Given the description of an element on the screen output the (x, y) to click on. 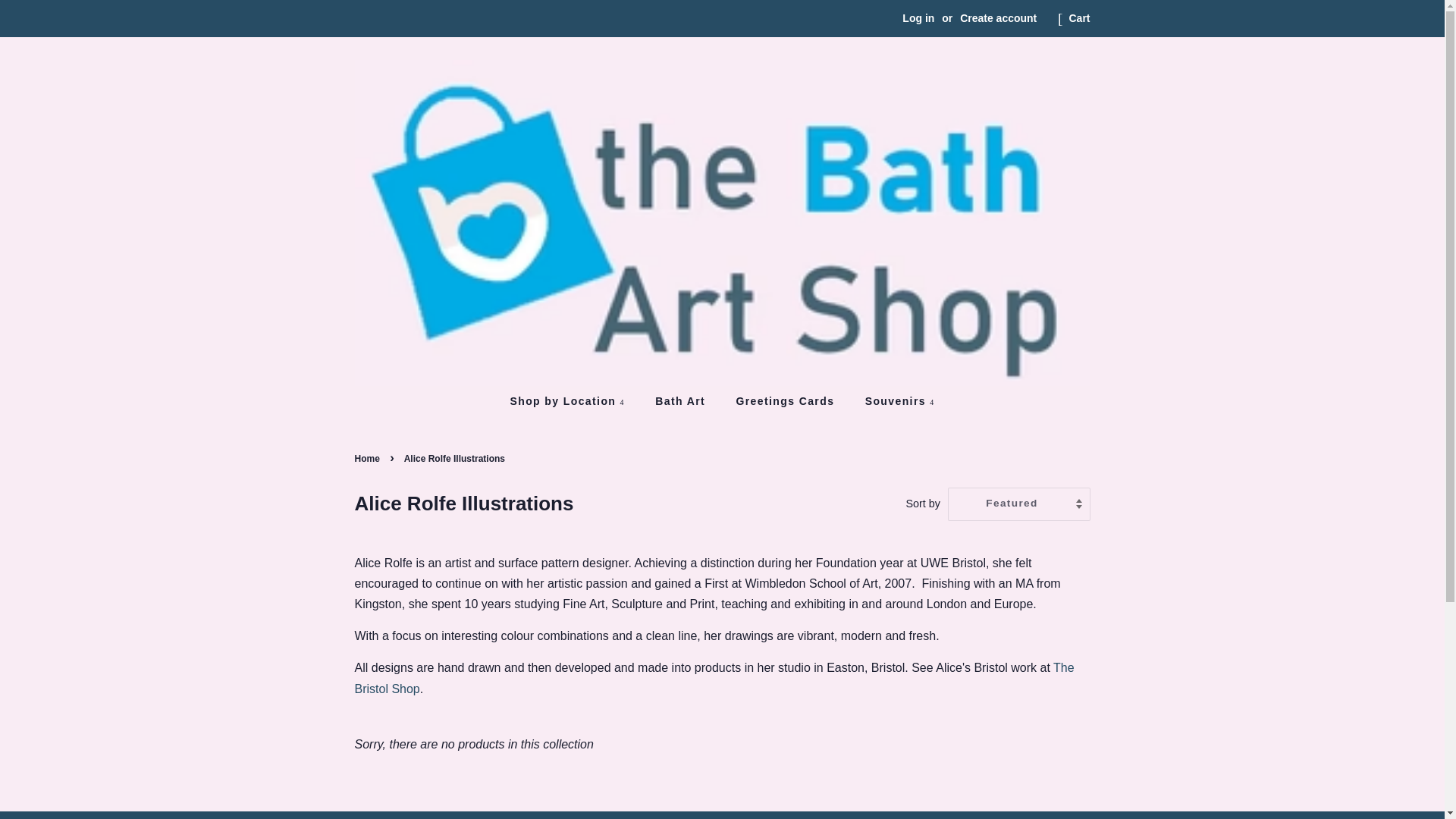
Back to the frontpage (369, 458)
Create account (997, 18)
Shop by Location (574, 401)
Log in (918, 18)
Cart (1078, 18)
Bristol Art by Alice Rolfe at The Bristol Shop (714, 677)
